Given the description of an element on the screen output the (x, y) to click on. 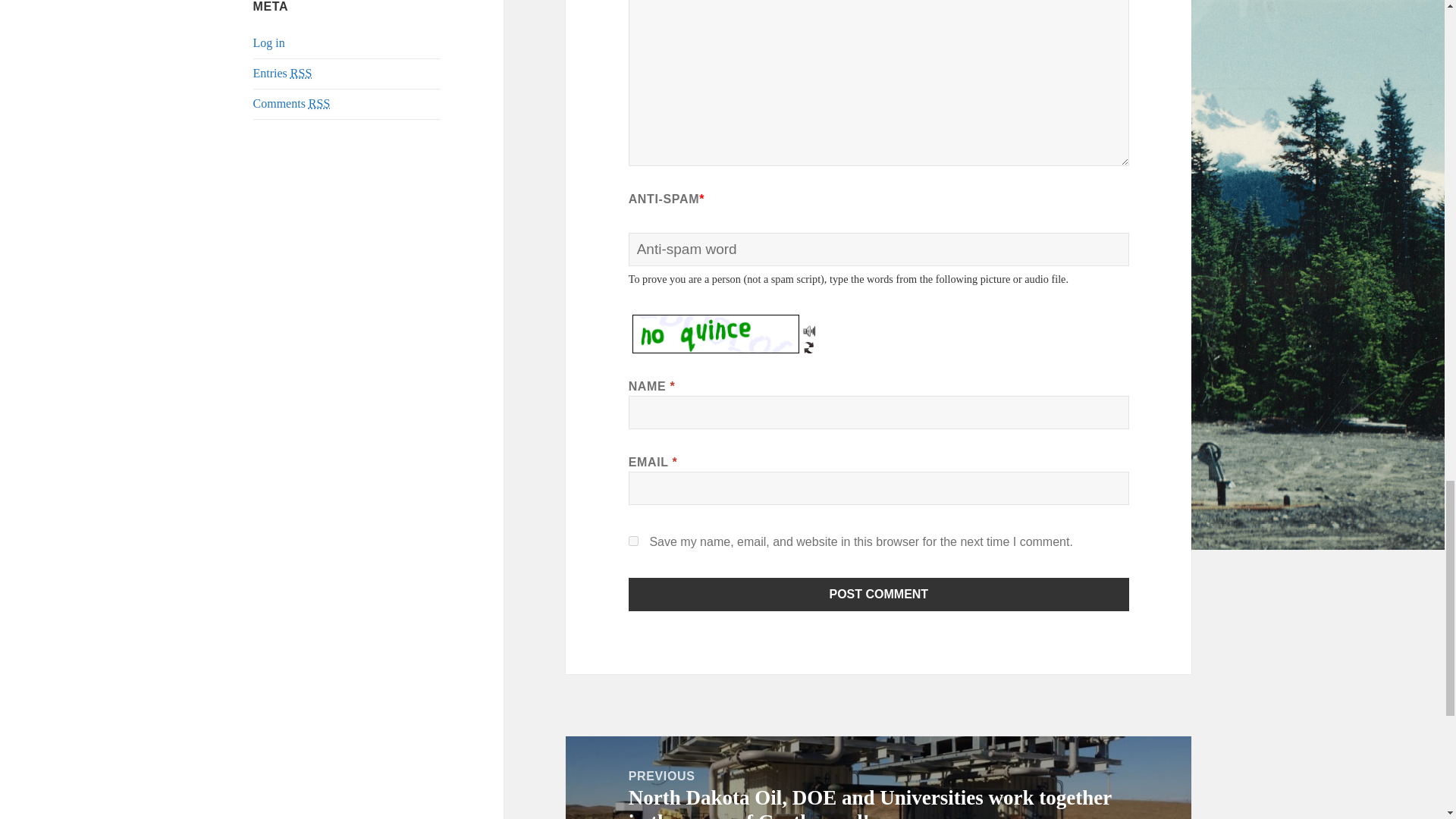
Really Simple Syndication (300, 73)
The latest comments to all posts in RSS (291, 103)
Really Simple Syndication (319, 103)
Log in (269, 42)
Comments RSS (291, 103)
Syndicate this site using RSS 2.0 (283, 73)
Entries RSS (283, 73)
Post Comment (878, 594)
yes (633, 541)
